Given the description of an element on the screen output the (x, y) to click on. 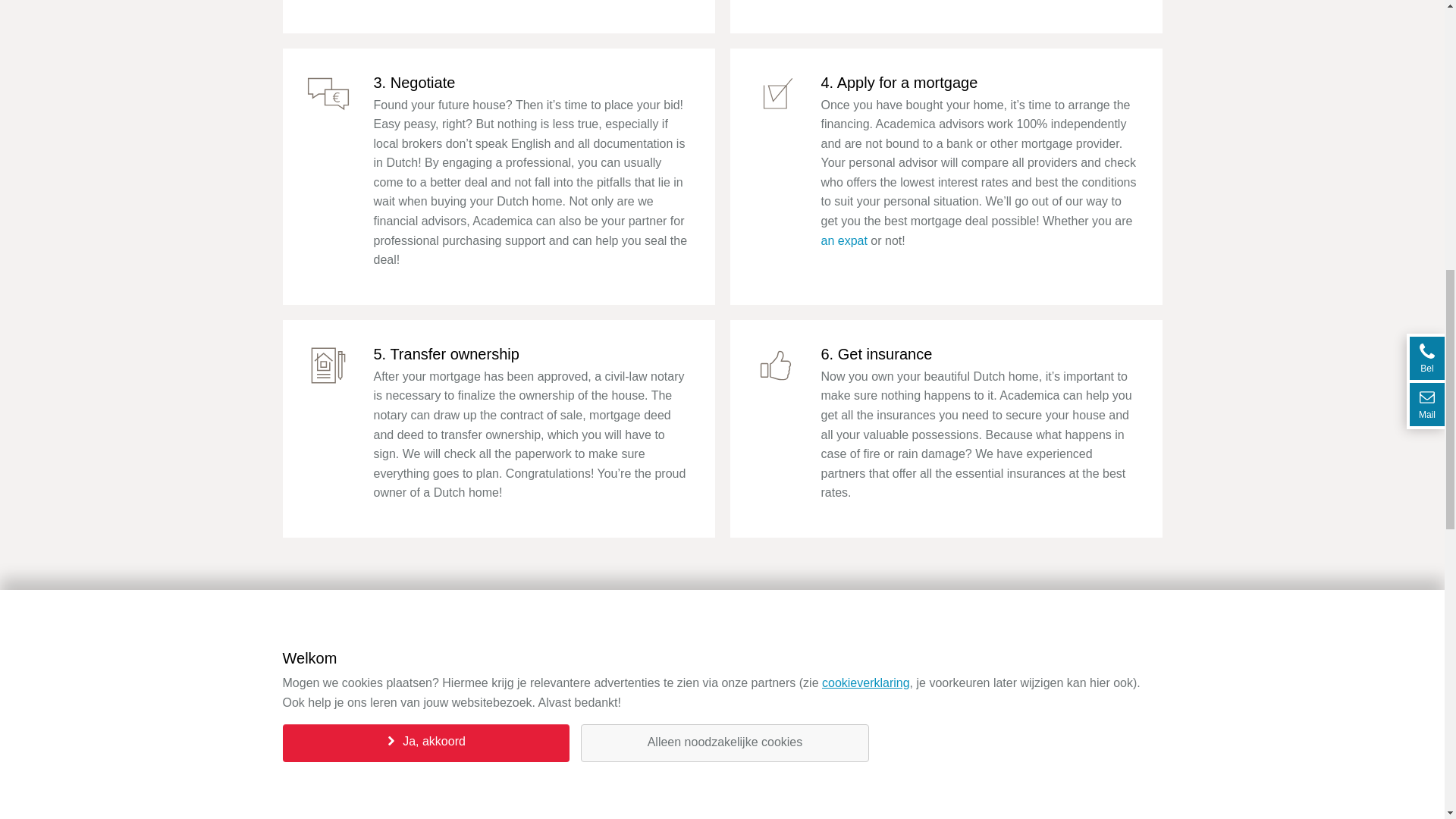
an expat (843, 241)
